Given the description of an element on the screen output the (x, y) to click on. 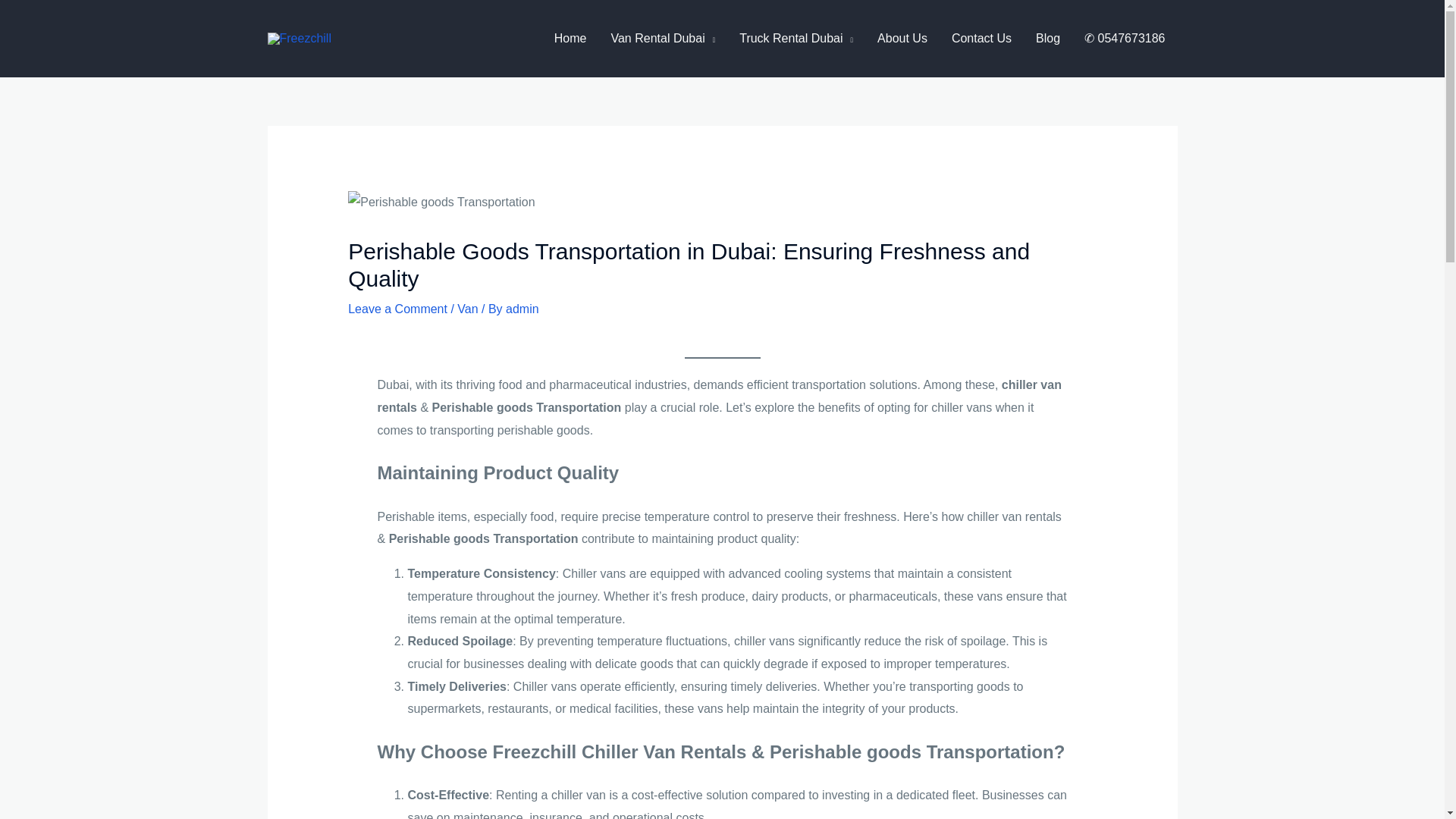
Truck Rental Dubai (795, 38)
Van (467, 308)
Contact Us (981, 38)
admin (521, 308)
Van Rental Dubai (662, 38)
Blog (1047, 38)
About Us (901, 38)
Home (569, 38)
Leave a Comment (396, 308)
View all posts by admin (521, 308)
